Given the description of an element on the screen output the (x, y) to click on. 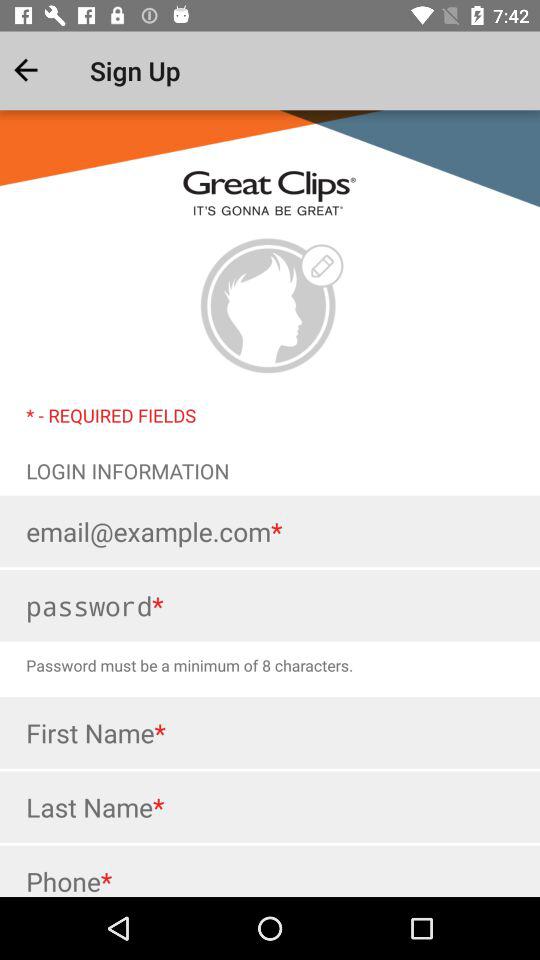
enter email (269, 531)
